Given the description of an element on the screen output the (x, y) to click on. 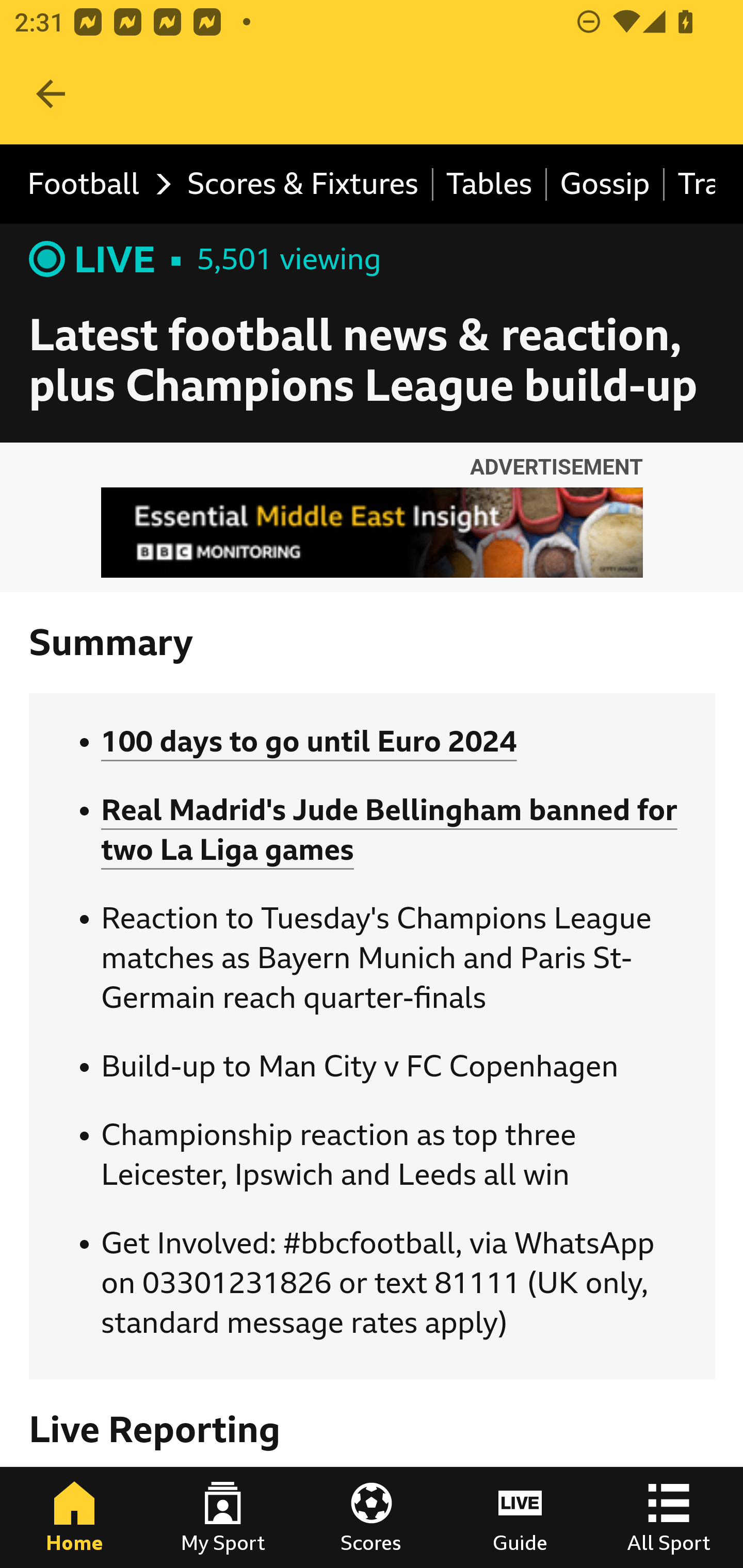
Navigate up (50, 93)
Football (94, 184)
Scores & Fixtures (303, 184)
Tables (490, 184)
Gossip (605, 184)
100 days to go until Euro 2024 (309, 742)
My Sport (222, 1517)
Scores (371, 1517)
Guide (519, 1517)
All Sport (668, 1517)
